Given the description of an element on the screen output the (x, y) to click on. 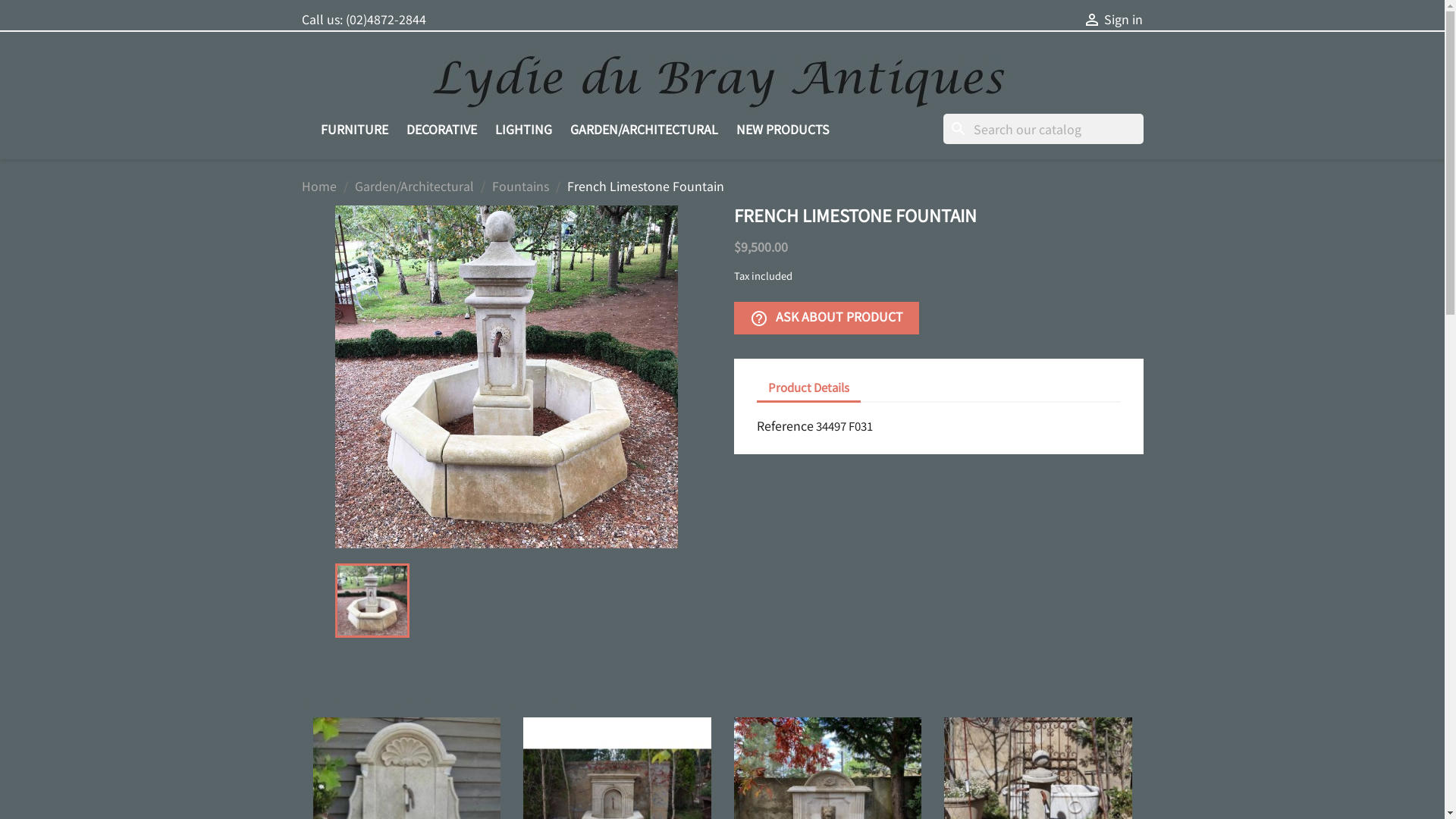
LIGHTING Element type: text (522, 128)
GARDEN/ARCHITECTURAL Element type: text (643, 128)
FURNITURE Element type: text (353, 128)
NEW PRODUCTS Element type: text (782, 128)
Fountains Element type: text (519, 185)
DECORATIVE Element type: text (441, 128)
(02)4872-2844 Element type: text (385, 18)
Product Details Element type: text (808, 387)
help_outlineASK ABOUT PRODUCT Element type: text (826, 317)
Home Element type: text (318, 185)
Garden/Architectural Element type: text (413, 185)
